Given the description of an element on the screen output the (x, y) to click on. 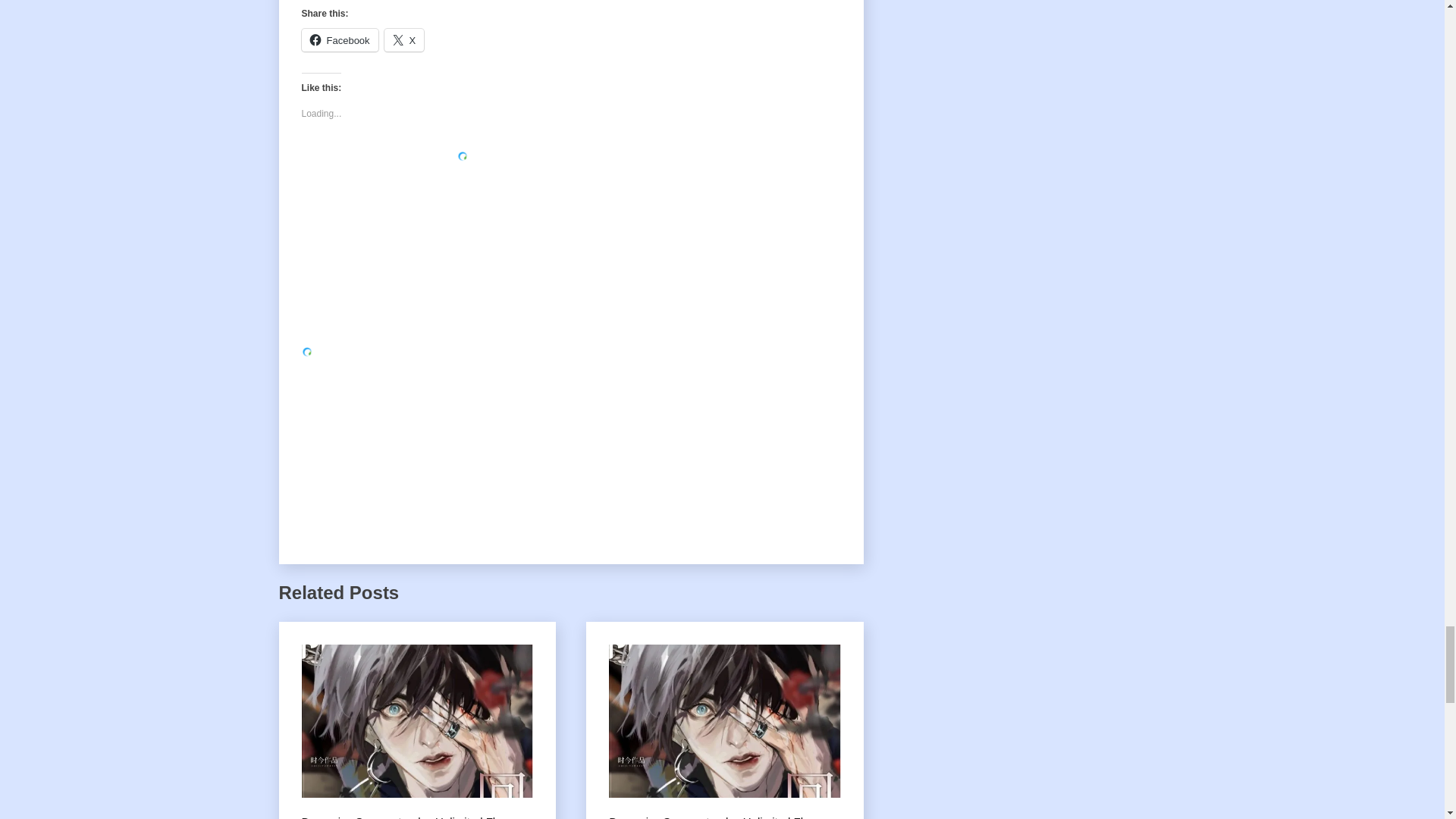
X (404, 39)
Click to share on X (404, 39)
Supernatural (387, 816)
Unlimited Flow (472, 816)
Facebook (339, 39)
Click to share on Facebook (339, 39)
Danmei (320, 816)
